Given the description of an element on the screen output the (x, y) to click on. 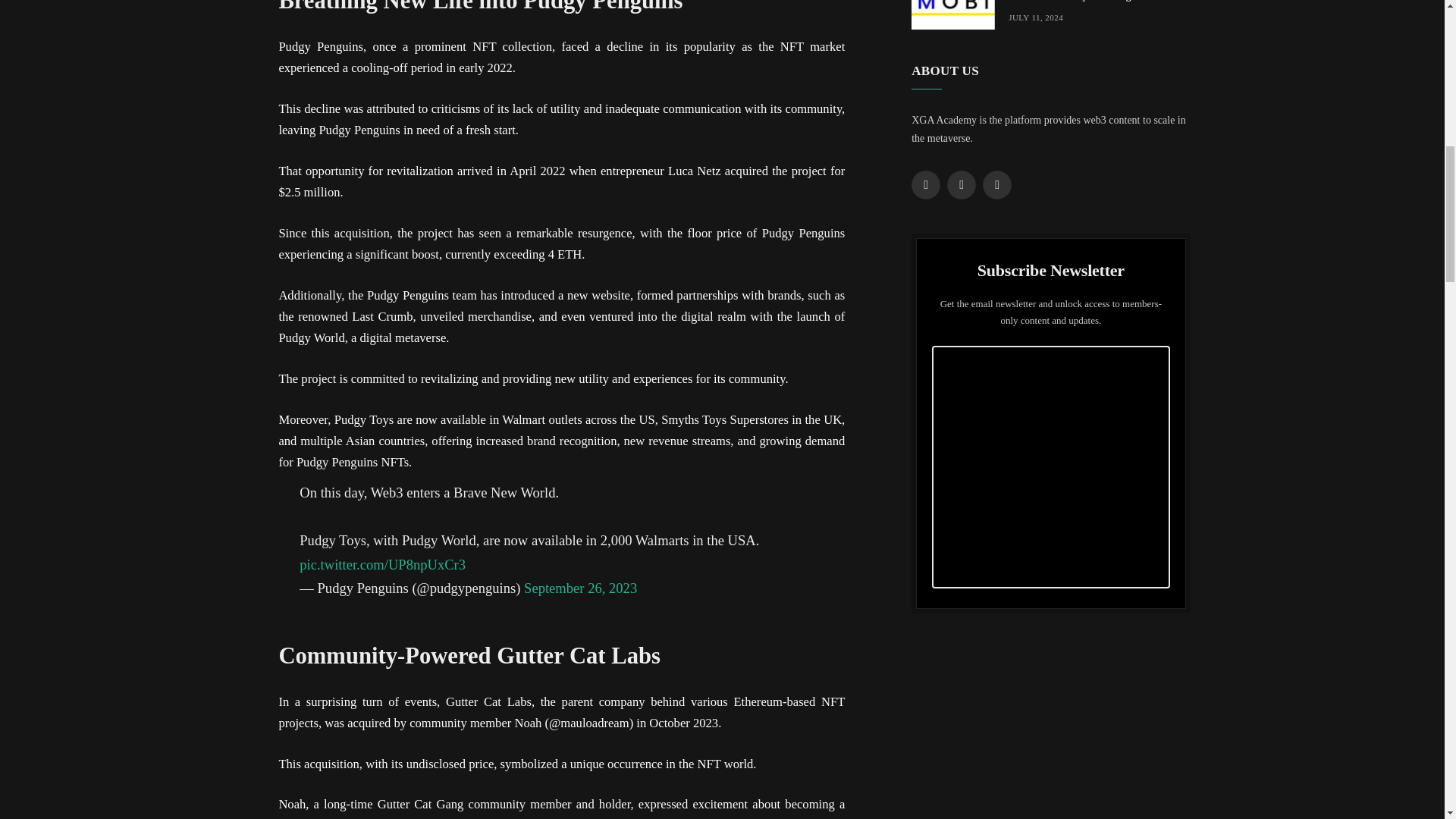
September 26, 2023 (580, 587)
